Given the description of an element on the screen output the (x, y) to click on. 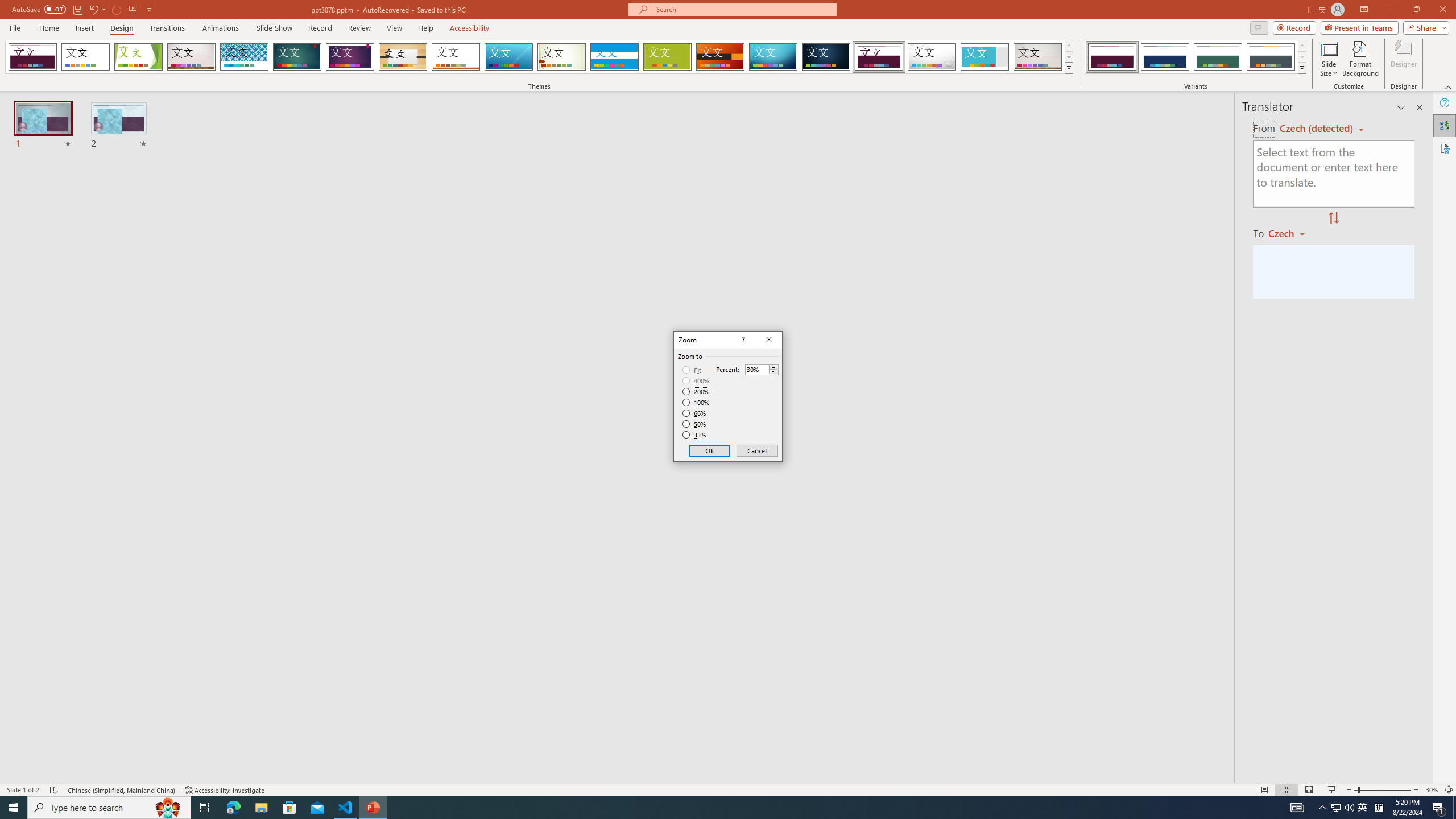
OK (709, 450)
Format Background (1360, 58)
Basis (667, 56)
Slice (508, 56)
33% (694, 434)
Banded (614, 56)
AutomationID: SlideThemesGallery (539, 56)
Dividend Variant 3 (1217, 56)
